Given the description of an element on the screen output the (x, y) to click on. 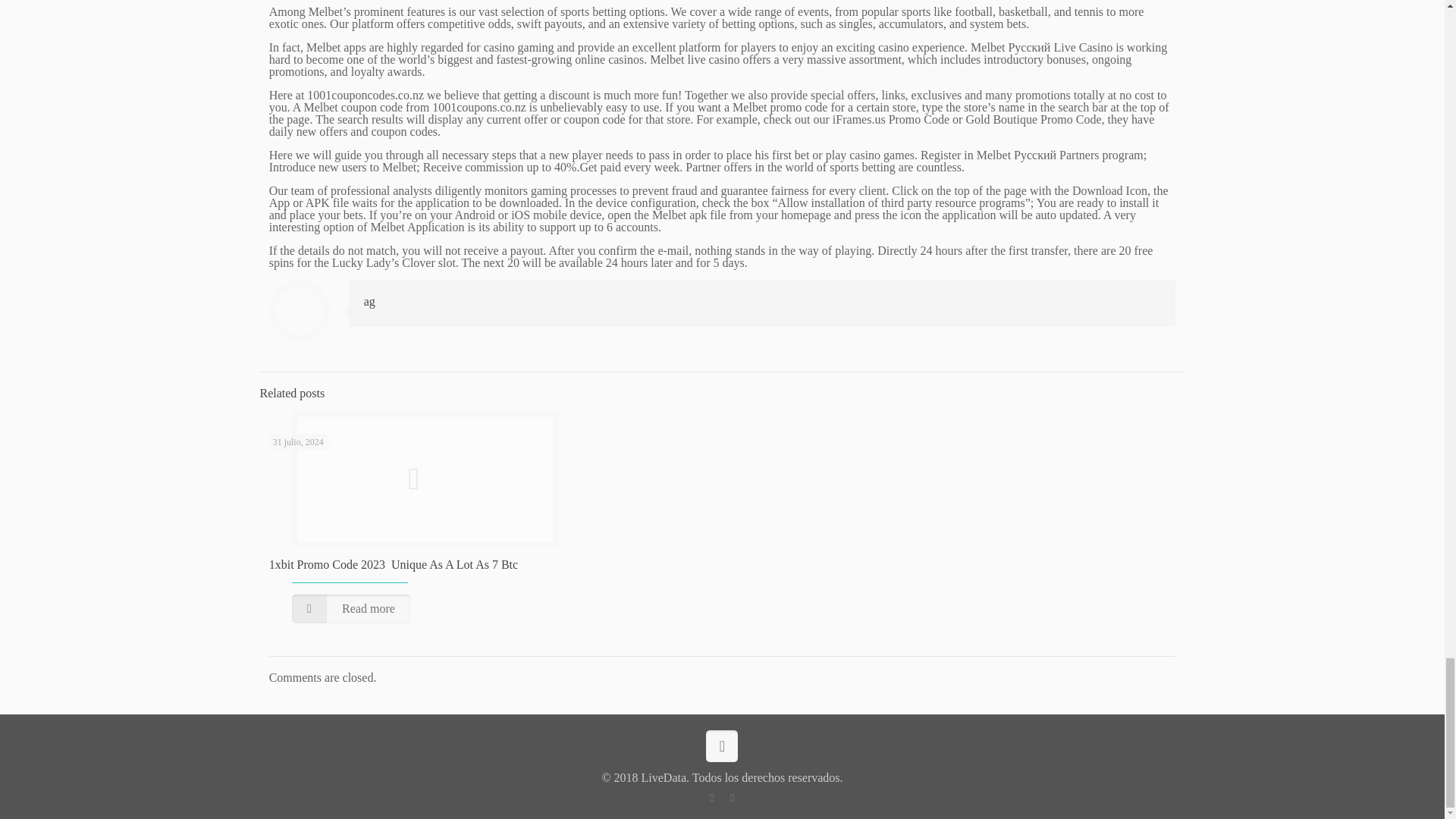
Read more (351, 608)
Facebook (711, 797)
Twitter (731, 797)
